Given the description of an element on the screen output the (x, y) to click on. 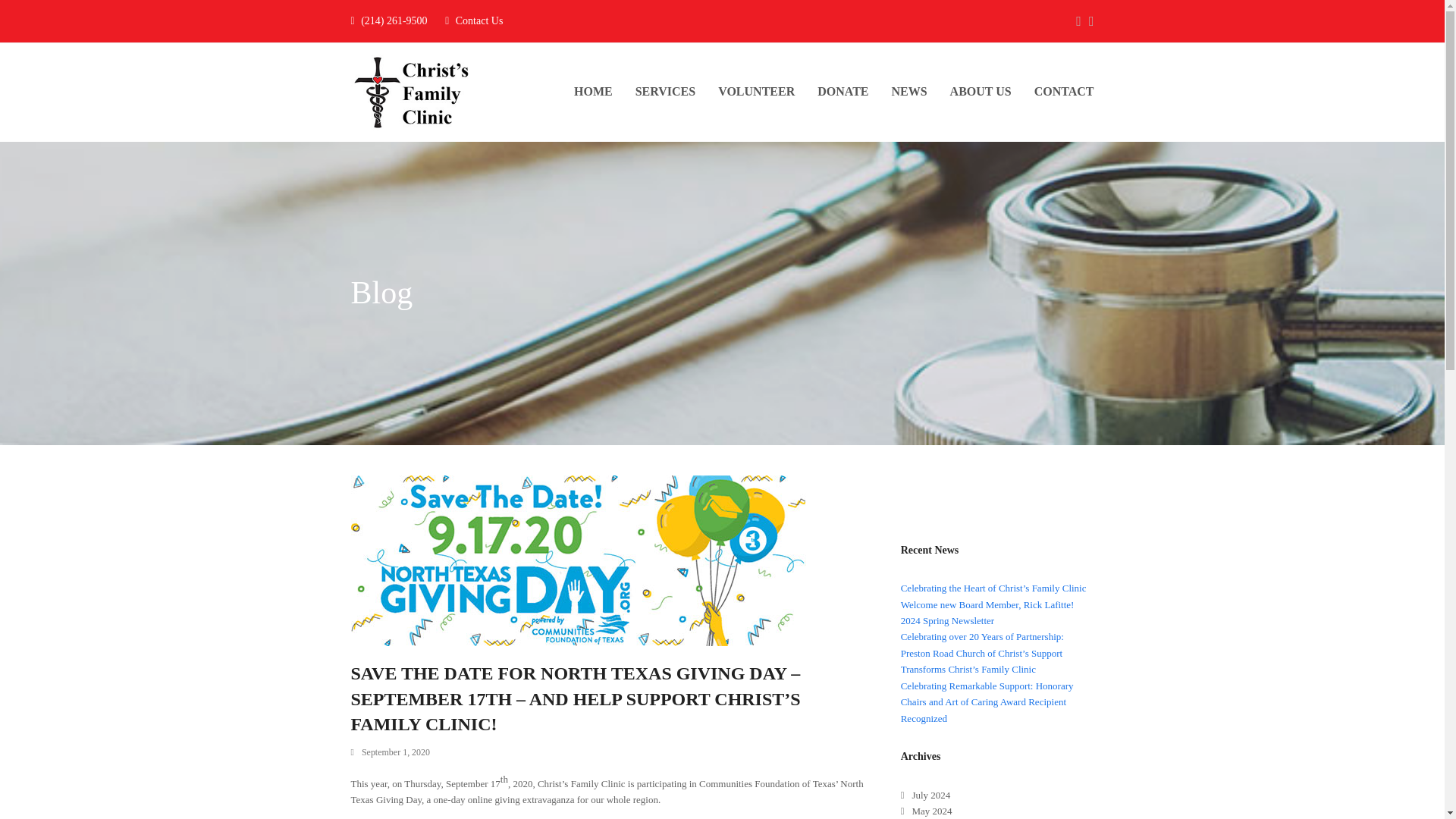
VOLUNTEER (756, 92)
Contact Us (479, 20)
July 2024 (925, 794)
May 2024 (926, 810)
Welcome new Board Member, Rick Lafitte! (987, 604)
2024 Spring Newsletter (947, 620)
